Given the description of an element on the screen output the (x, y) to click on. 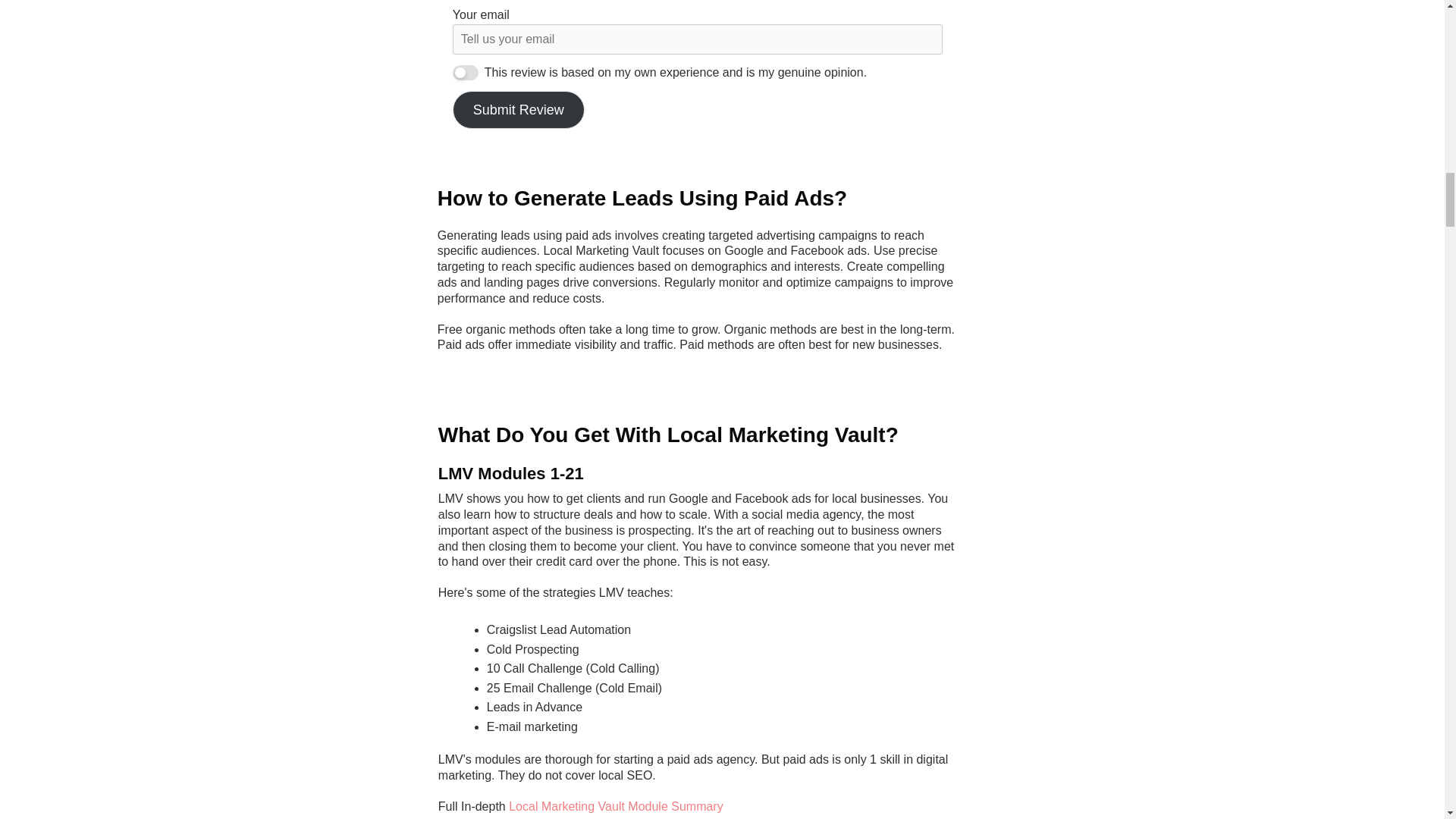
Local Marketing Vault Module Summary (615, 806)
1 (465, 72)
Submit Review (518, 109)
